Given the description of an element on the screen output the (x, y) to click on. 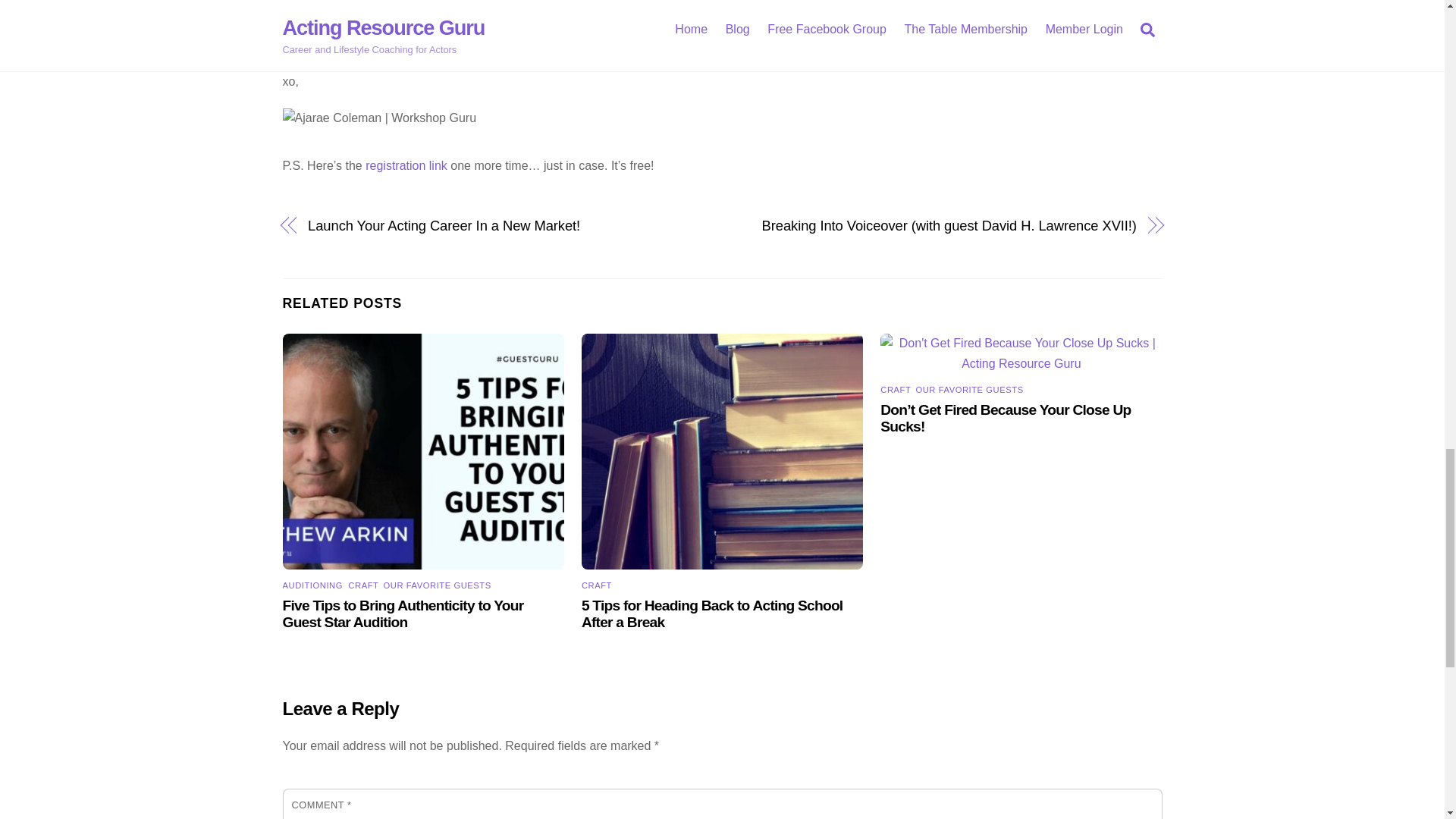
registration link (405, 164)
5 Tips for Heading Back to Acting School After a Break (711, 613)
CRAFT (362, 584)
Launch Your Acting Career In a New Market! (501, 225)
OUR FAVORITE GUESTS (969, 388)
CRAFT (595, 584)
CRAFT (895, 388)
Five Tips to Bring Authenticity to Your Guest Star Audition (402, 613)
AUDITIONING (312, 584)
OUR FAVORITE GUESTS (438, 584)
